Given the description of an element on the screen output the (x, y) to click on. 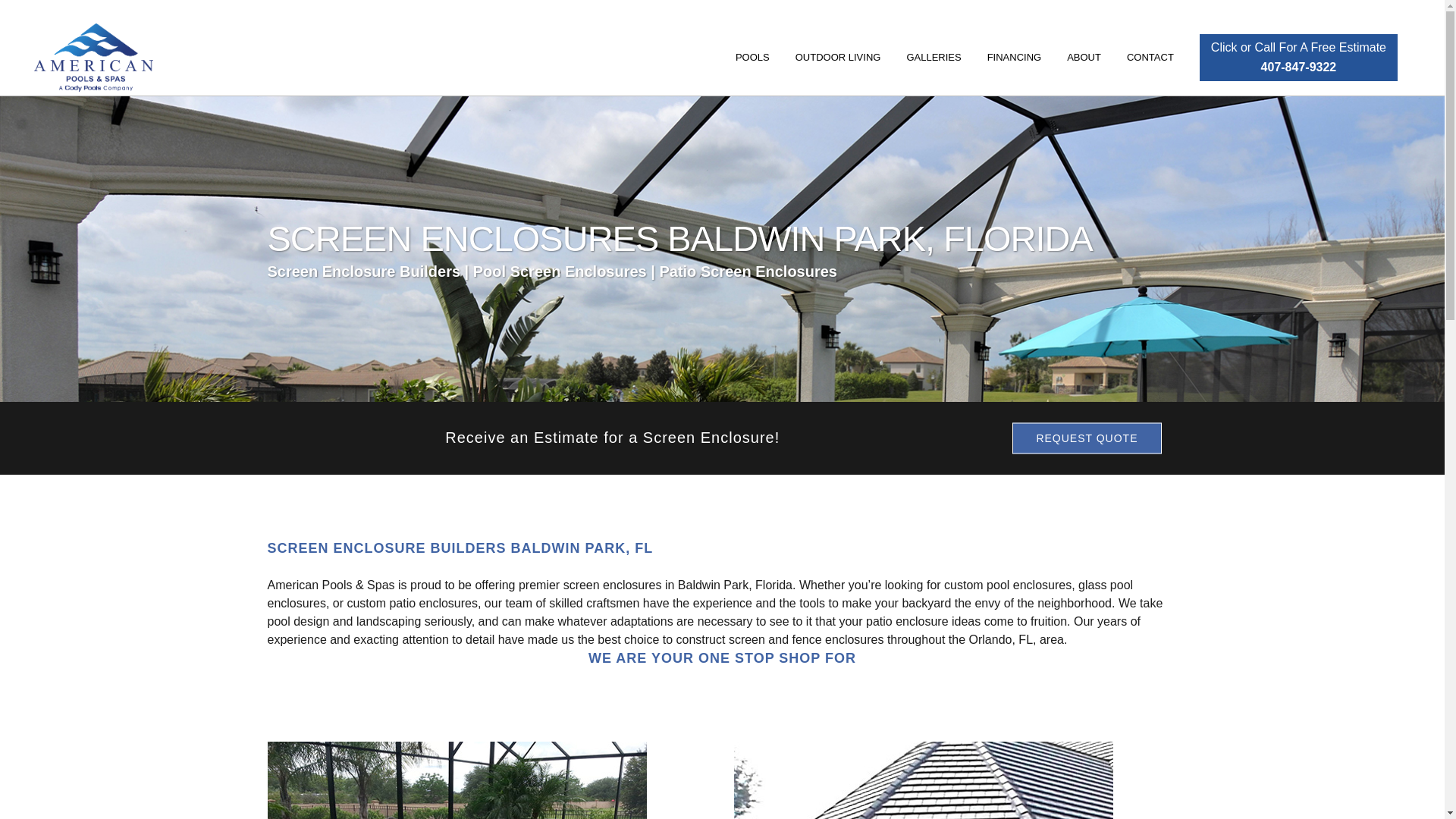
FINANCING (1014, 57)
GALLERIES (1298, 57)
OUTDOOR LIVING (933, 57)
